Given the description of an element on the screen output the (x, y) to click on. 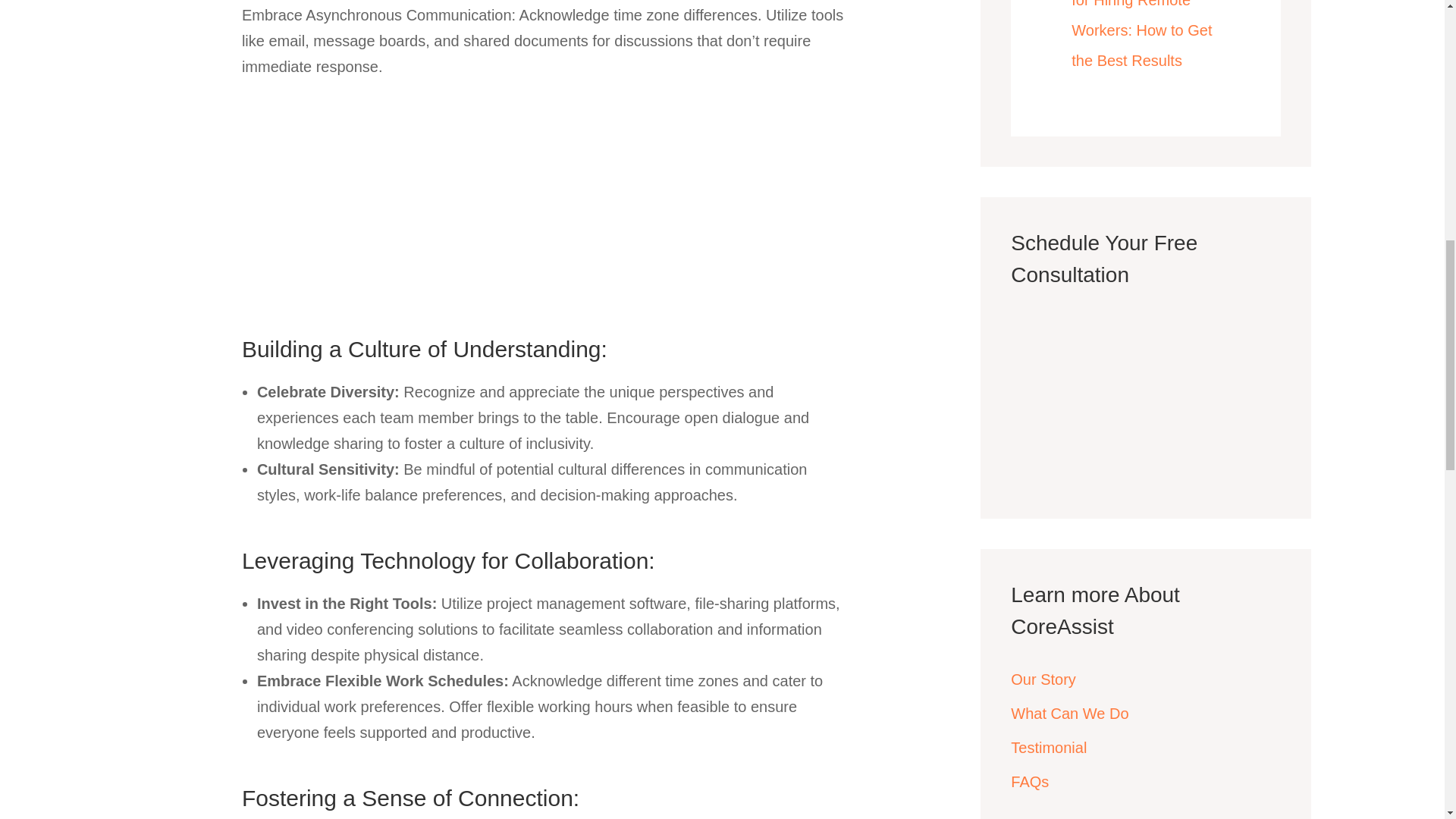
What Can We Do (1069, 713)
Our Story (1042, 678)
Testimonial (1048, 747)
FAQs (1029, 781)
